Given the description of an element on the screen output the (x, y) to click on. 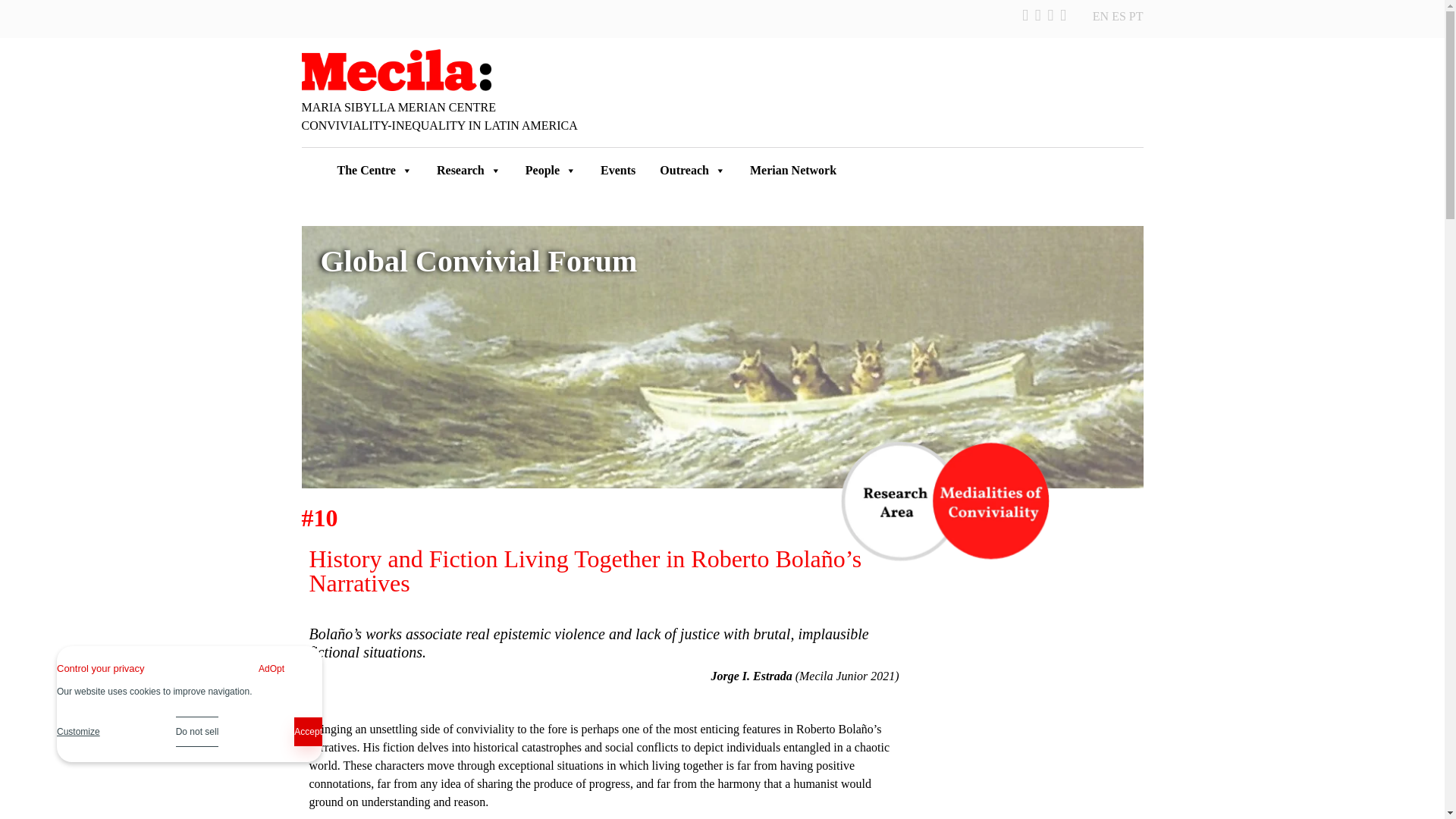
ES (1118, 15)
Mecila (396, 69)
Research (469, 170)
The Centre (373, 170)
EN (1100, 15)
People (550, 170)
PT (1135, 15)
Mecila (396, 68)
